Given the description of an element on the screen output the (x, y) to click on. 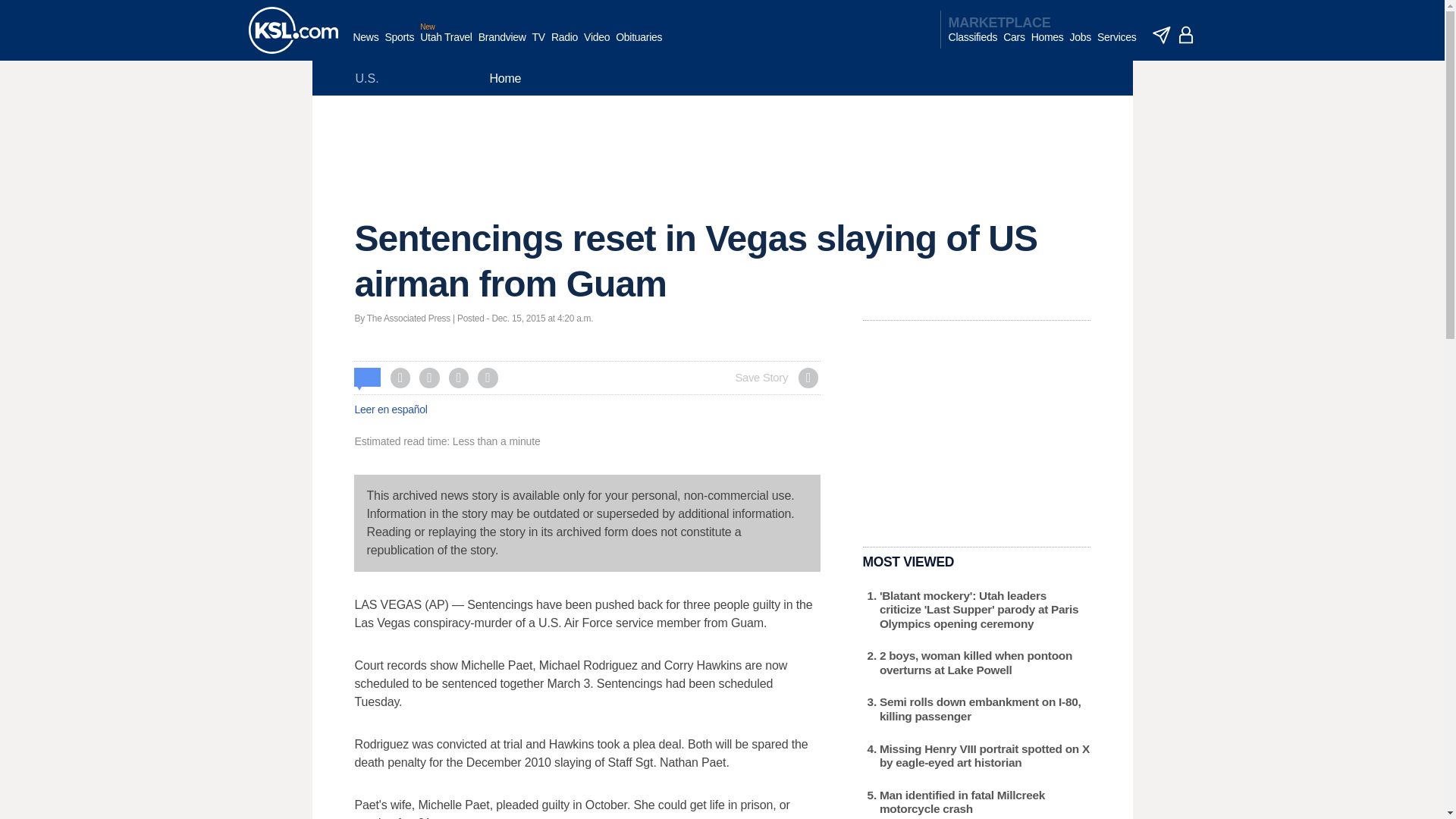
Utah Travel (445, 45)
KSL homepage (292, 30)
TV (538, 45)
KSL homepage (292, 29)
News (365, 45)
account - logged out (1185, 34)
Sports (398, 45)
Brandview (502, 45)
